Given the description of an element on the screen output the (x, y) to click on. 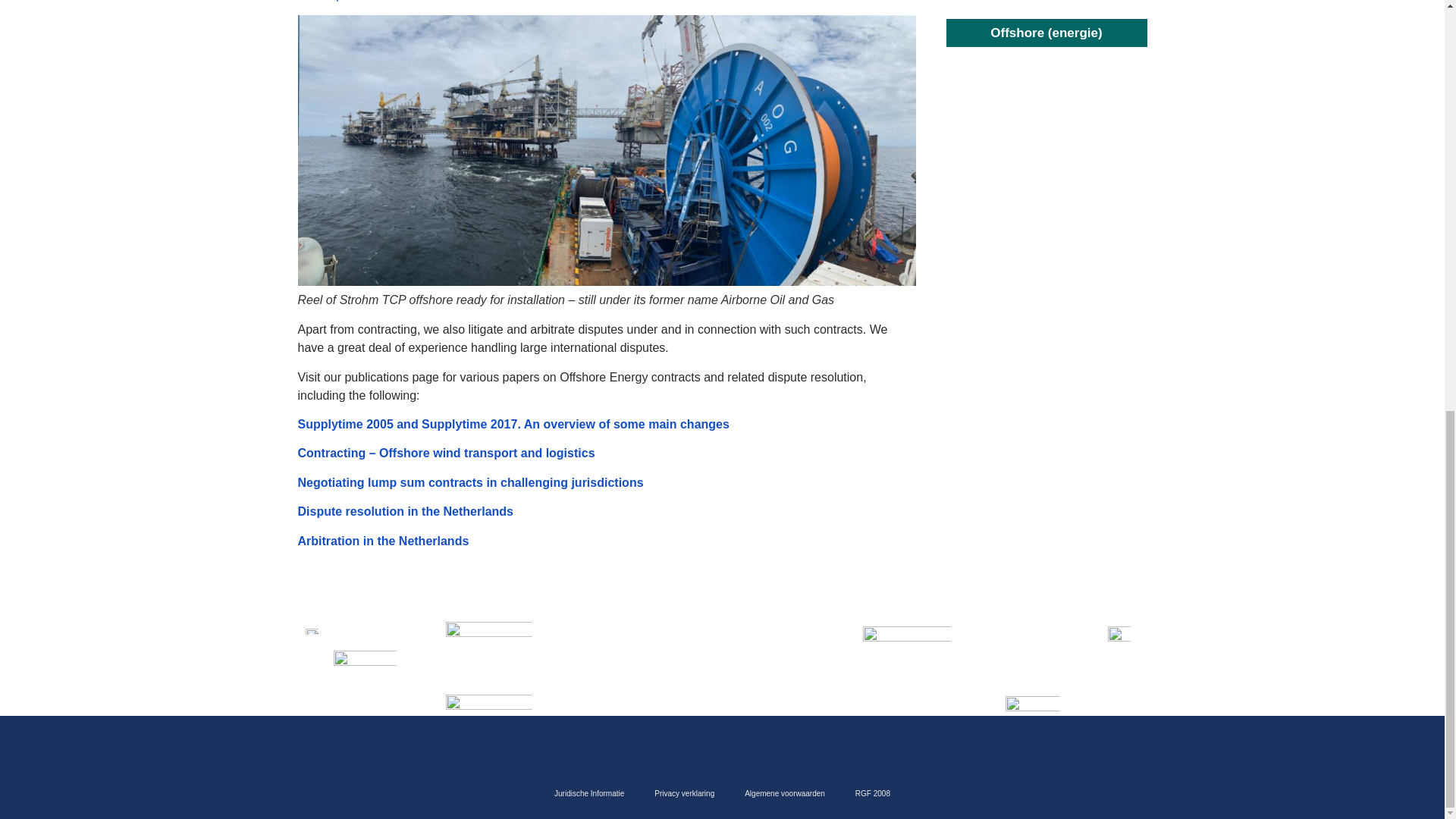
Arbitration in the Netherlands (382, 540)
Negotiating lump sum contracts in challenging jurisdictions (470, 481)
Juridische Informatie (588, 793)
Algemene voorwaarden (784, 793)
Dispute resolution in the Netherlands (404, 511)
Privacy verklaring (684, 793)
RGF 2008 (872, 793)
